Given the description of an element on the screen output the (x, y) to click on. 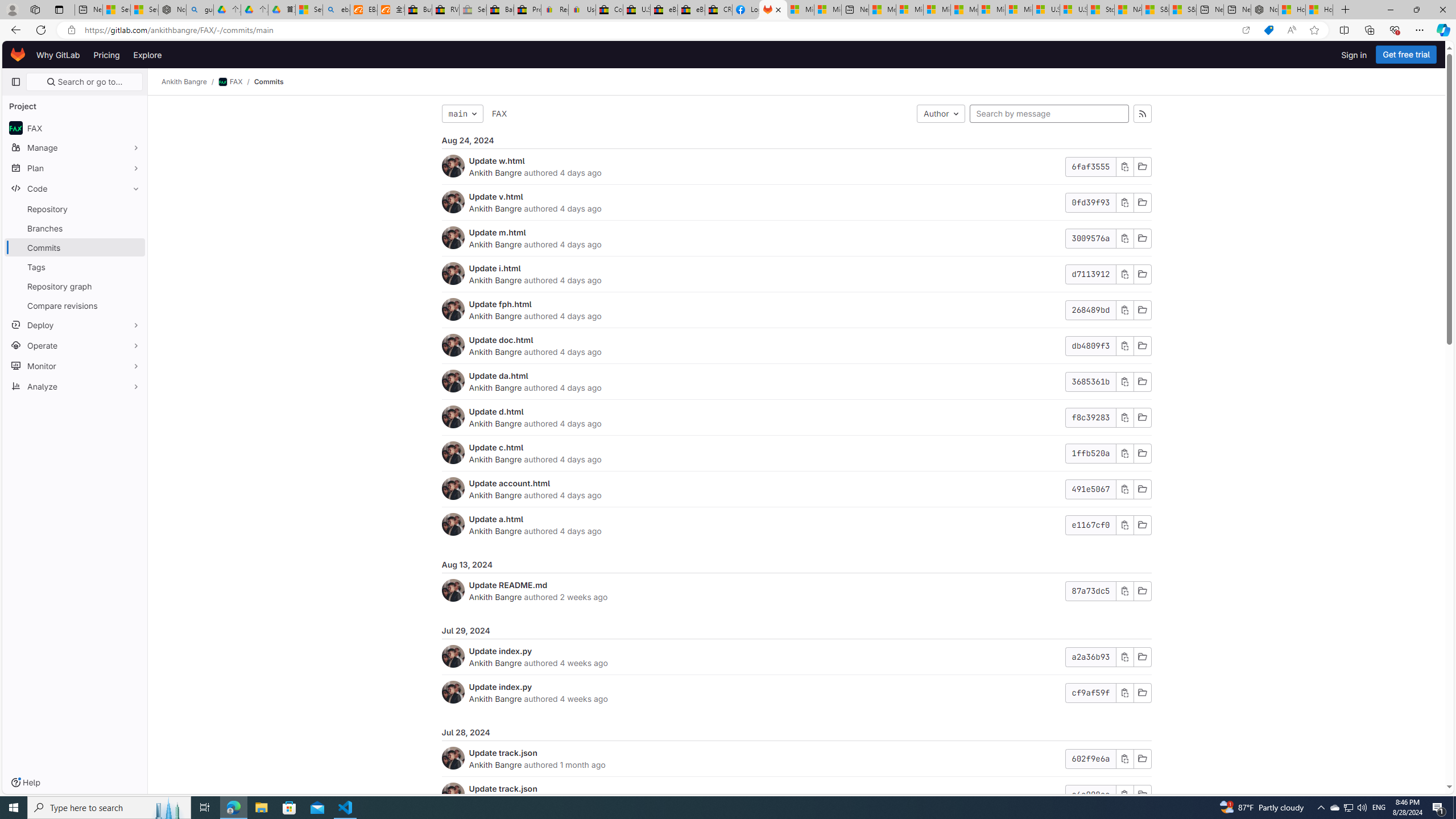
User Privacy Notice | eBay (581, 9)
Help (25, 782)
Repository graph (74, 285)
Update README.md (507, 584)
Why GitLab (58, 54)
Commits (268, 81)
Branches (74, 227)
FAX (499, 112)
Monitor (74, 365)
Update v.html (495, 196)
